Given the description of an element on the screen output the (x, y) to click on. 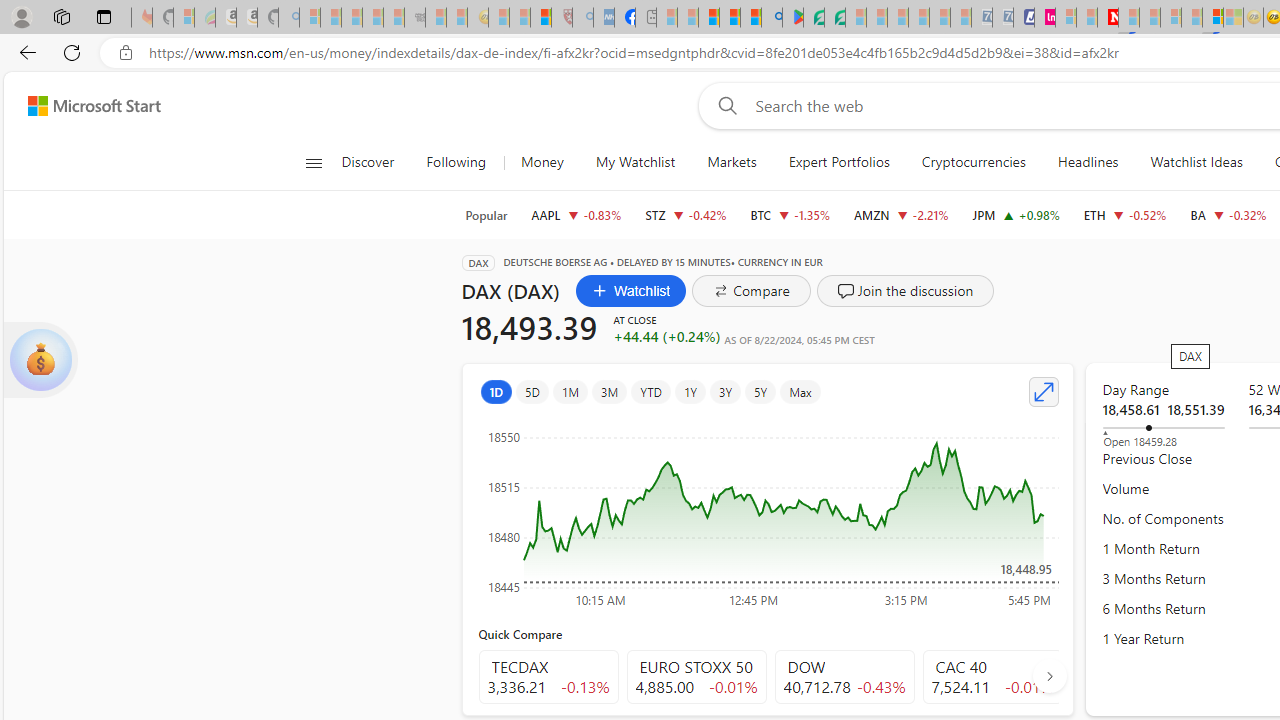
Expert Portfolios (838, 162)
1Y (690, 391)
Terms of Use Agreement (813, 17)
Popular (486, 215)
AutomationID: finance_carousel_navi_right (1049, 675)
Cryptocurrencies (973, 162)
